Given the description of an element on the screen output the (x, y) to click on. 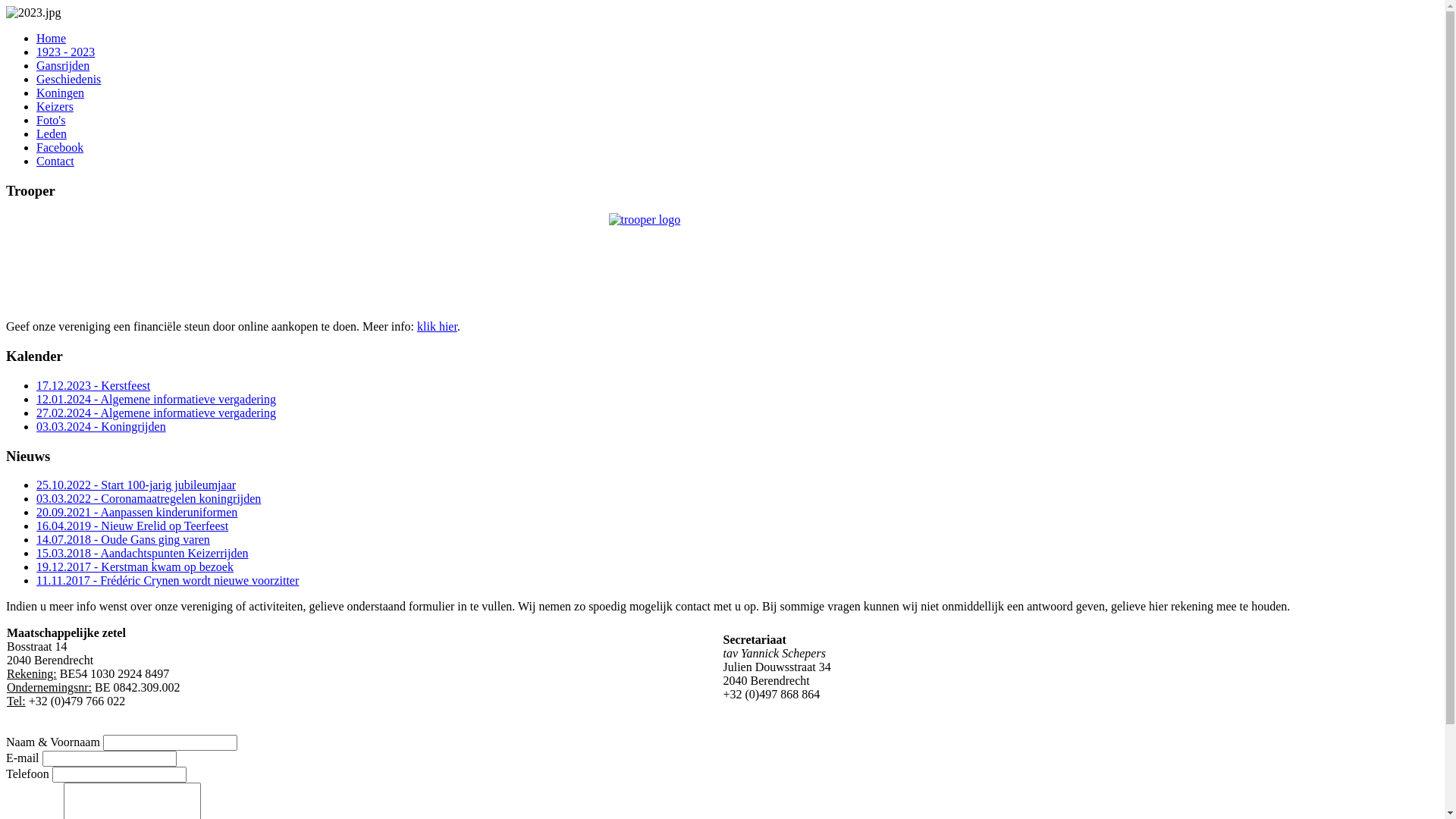
klik hier Element type: text (437, 326)
Home Element type: text (50, 37)
25.10.2022 - Start 100-jarig jubileumjaar Element type: text (135, 484)
20.09.2021 - Aanpassen kinderuniformen Element type: text (136, 511)
16.04.2019 - Nieuw Erelid op Teerfeest Element type: text (132, 525)
27.02.2024 - Algemene informatieve vergadering Element type: text (156, 412)
Geschiedenis Element type: text (68, 78)
17.12.2023 - Kerstfeest Element type: text (93, 385)
Leden Element type: text (51, 133)
03.03.2024 - Koningrijden Element type: text (101, 426)
12.01.2024 - Algemene informatieve vergadering Element type: text (156, 398)
Facebook Element type: text (59, 147)
14.07.2018 - Oude Gans ging varen Element type: text (123, 539)
Contact Element type: text (55, 160)
Gansrijden Element type: text (62, 65)
03.03.2022 - Coronamaatregelen koningrijden Element type: text (148, 498)
15.03.2018 - Aandachtspunten Keizerrijden Element type: text (141, 552)
Foto's Element type: text (50, 119)
Koningen Element type: text (60, 92)
19.12.2017 - Kerstman kwam op bezoek Element type: text (134, 566)
Keizers Element type: text (54, 106)
1923 - 2023 Element type: text (65, 51)
